Given the description of an element on the screen output the (x, y) to click on. 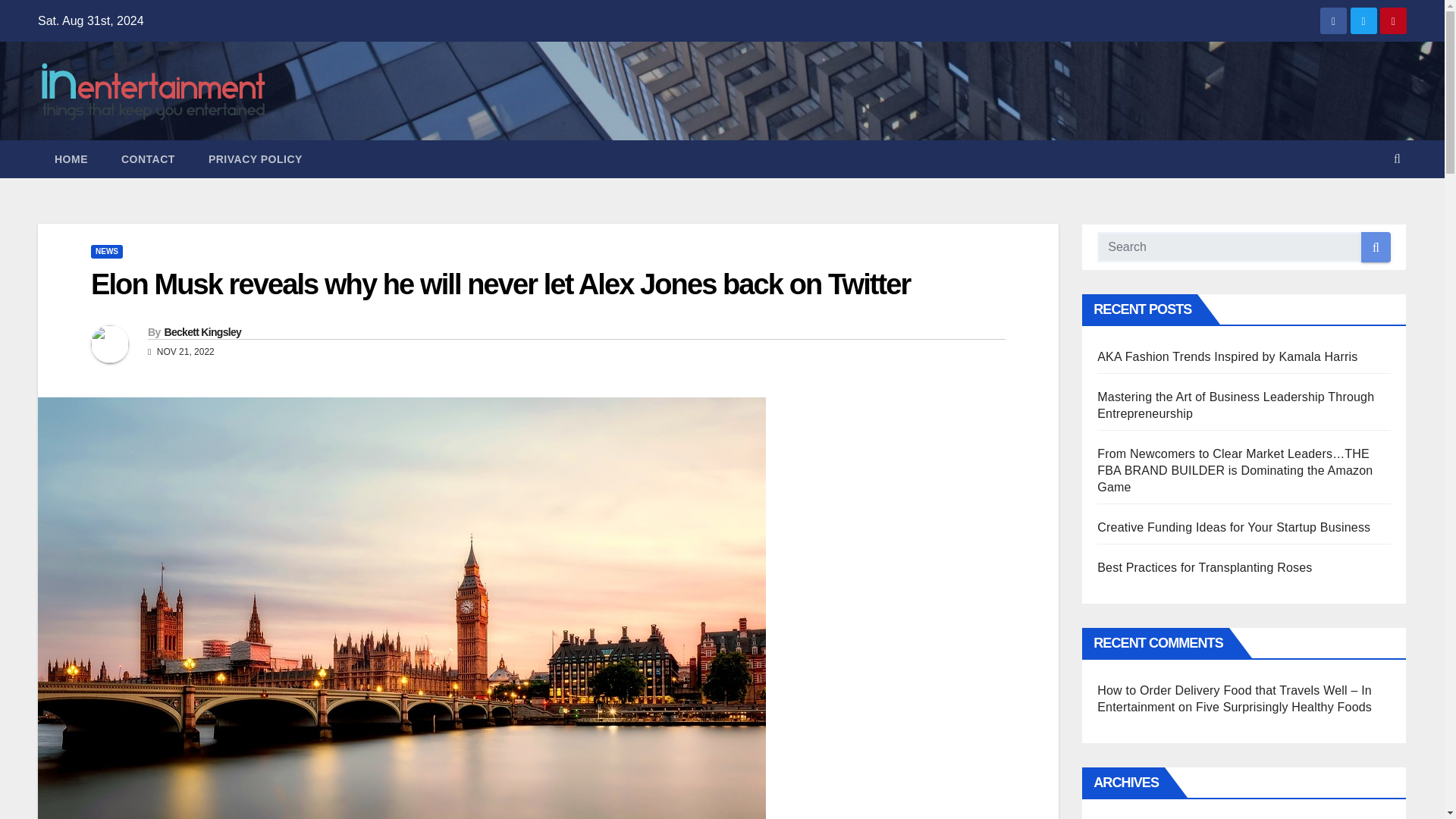
NEWS (106, 251)
Beckett Kingsley (202, 331)
CONTACT (148, 159)
HOME (70, 159)
AKA Fashion Trends Inspired by Kamala Harris (1226, 356)
Home (70, 159)
PRIVACY POLICY (255, 159)
Creative Funding Ideas for Your Startup Business (1233, 526)
